Given the description of an element on the screen output the (x, y) to click on. 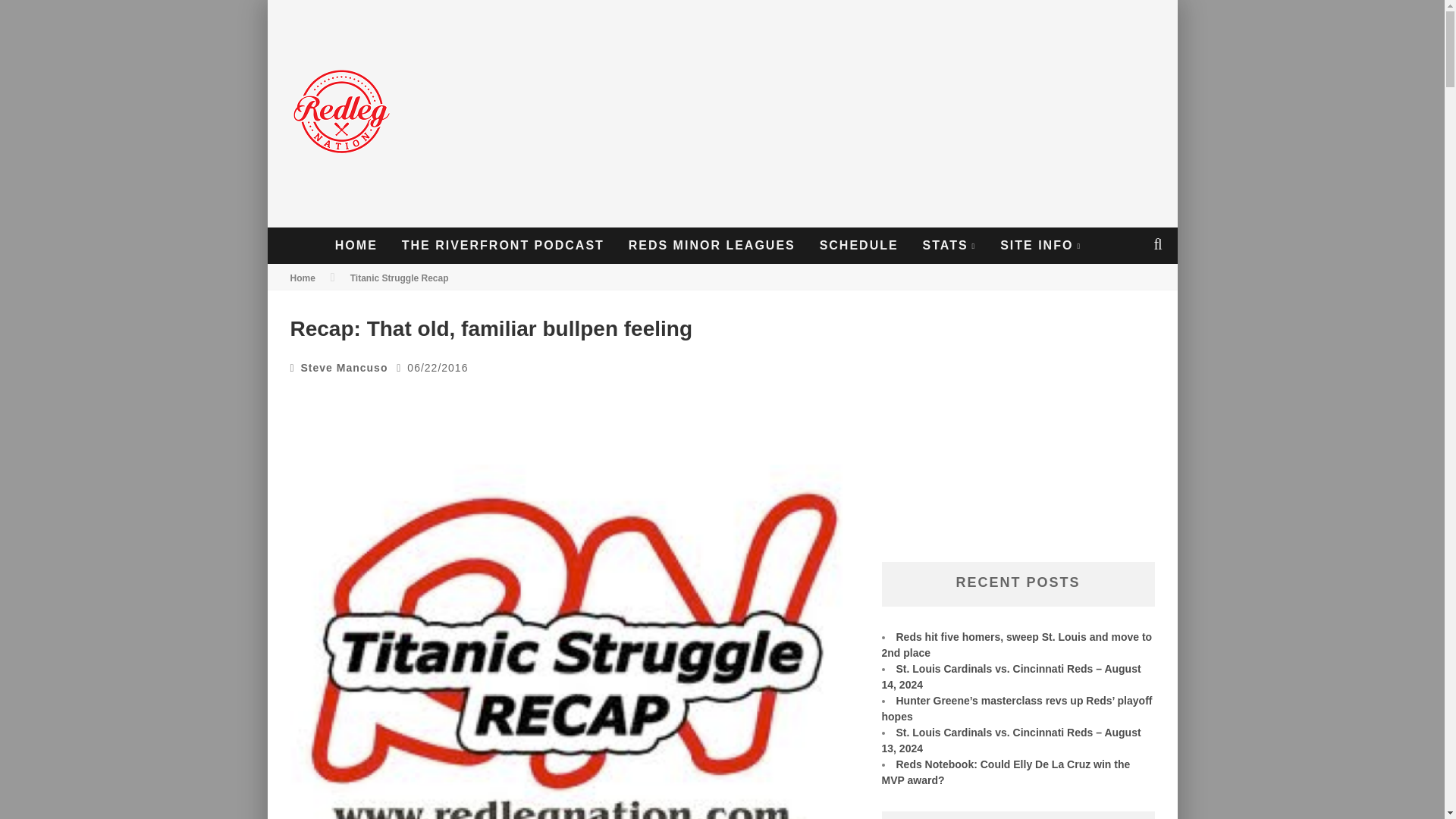
View all posts in Titanic Struggle Recap (399, 277)
Titanic Struggle Recap (399, 277)
THE RIVERFRONT PODCAST (502, 245)
REDS MINOR LEAGUES (711, 245)
Advertisement (1017, 439)
SCHEDULE (859, 245)
Home (301, 277)
Advertisement (893, 113)
SITE INFO (1040, 245)
Steve Mancuso (344, 367)
